Given the description of an element on the screen output the (x, y) to click on. 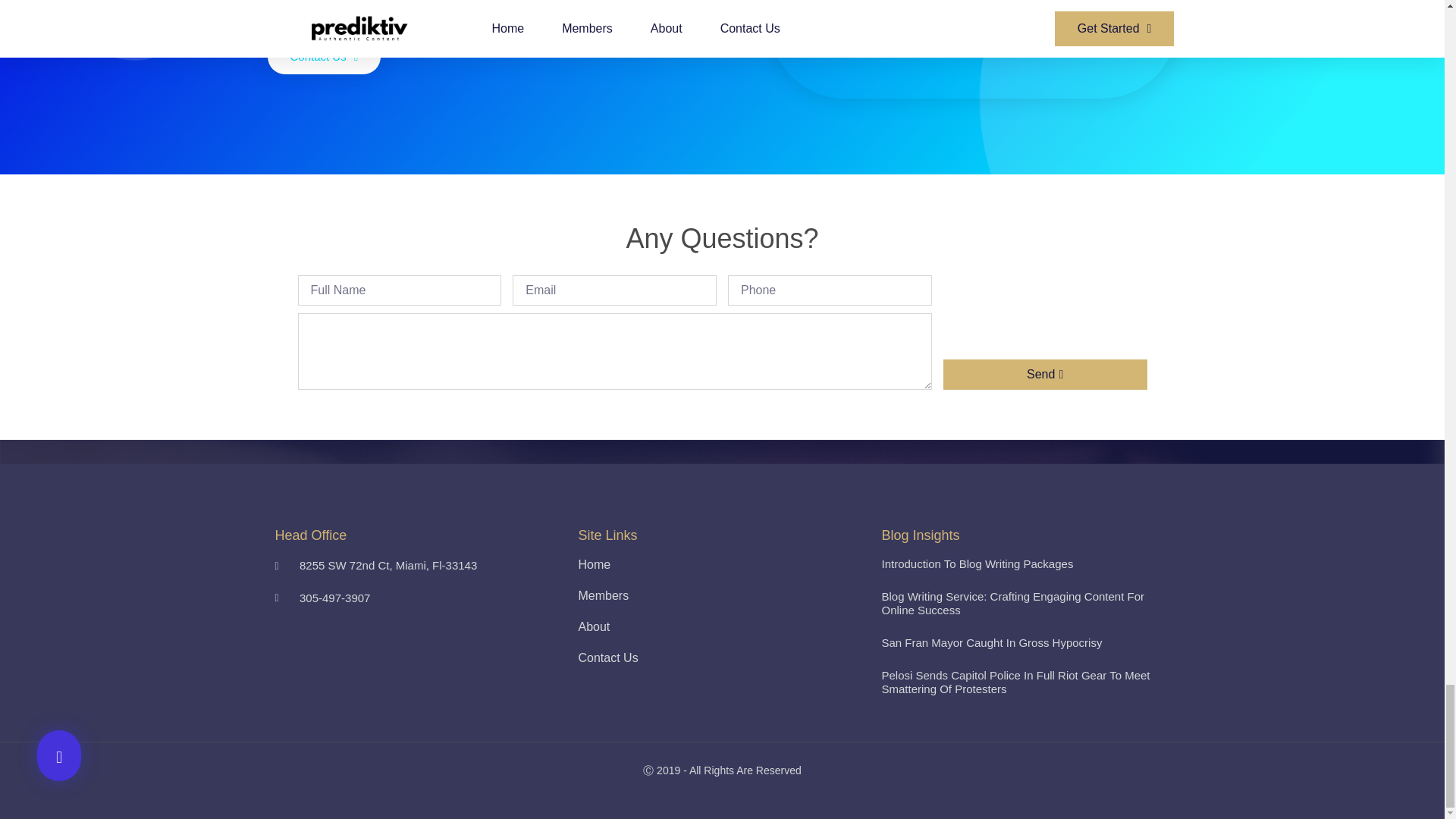
About (722, 626)
Members (722, 595)
Contact Us (323, 56)
Home (722, 564)
Contact Us (722, 657)
Send (1045, 374)
